Given the description of an element on the screen output the (x, y) to click on. 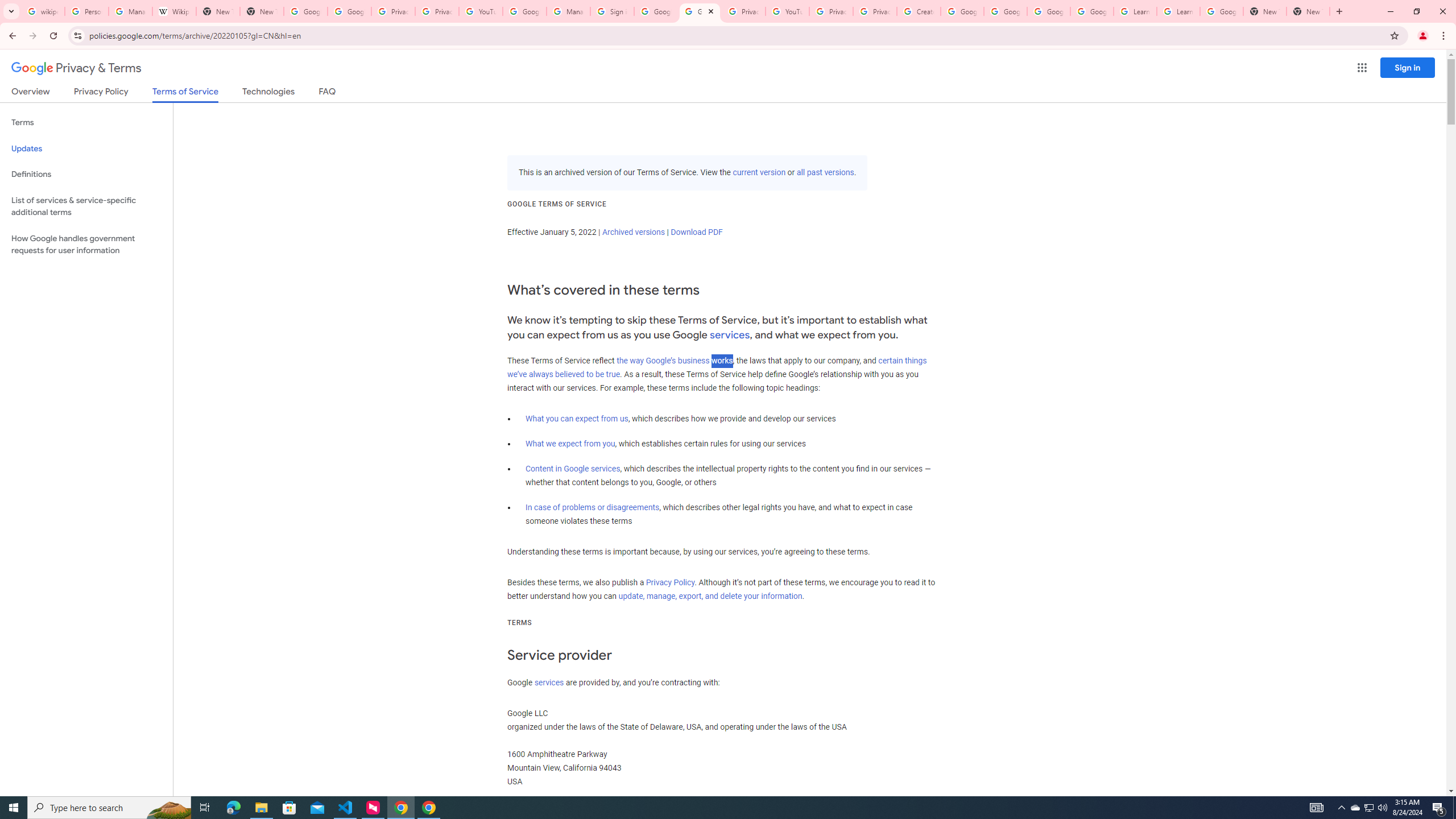
Archived versions (633, 231)
Google Account Help (1005, 11)
Content in Google services (572, 468)
New Tab (1308, 11)
